Given the description of an element on the screen output the (x, y) to click on. 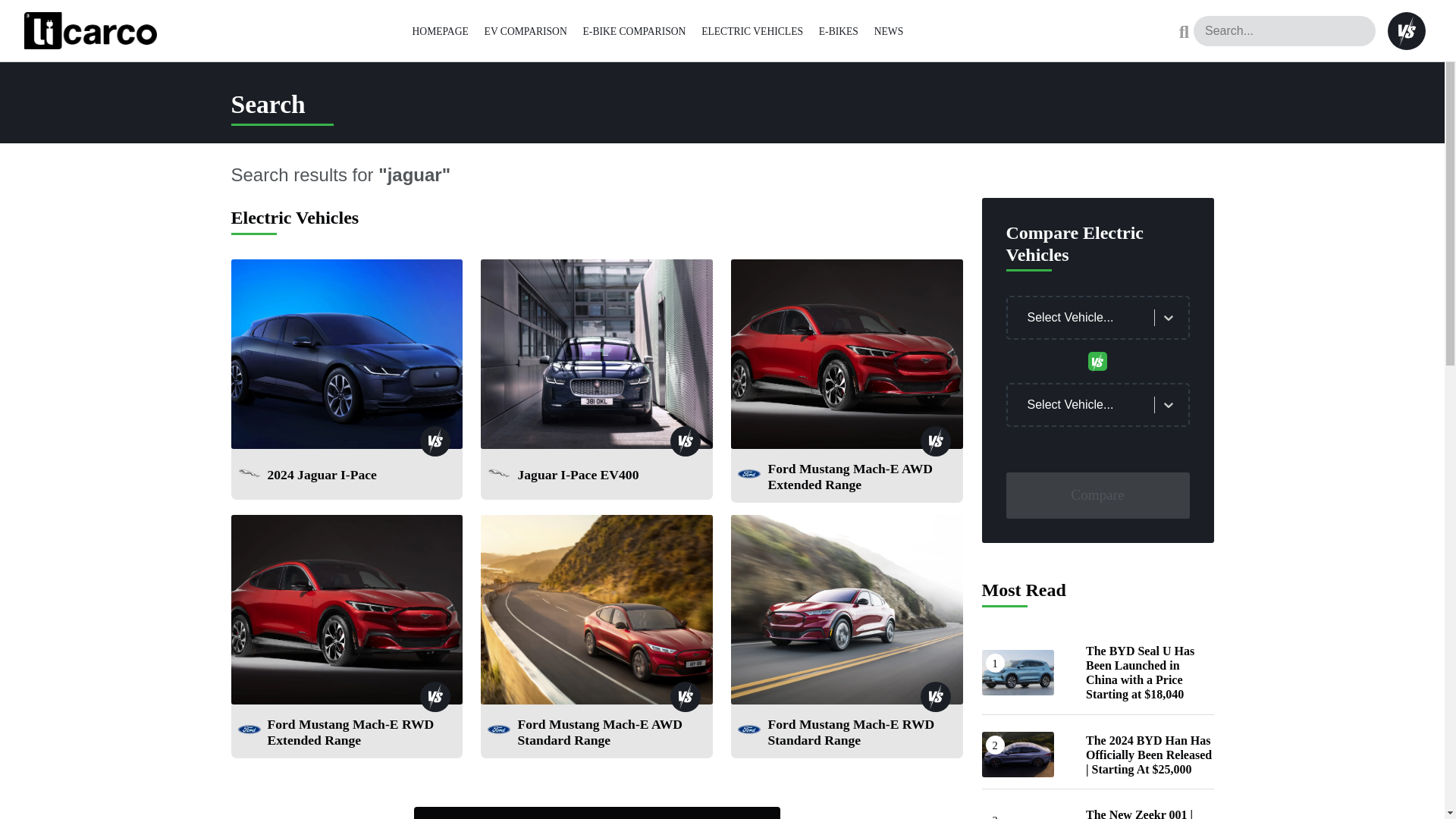
HOMEPAGE (440, 30)
EV COMPARISON (525, 30)
Ford Mustang Mach-E RWD Extended Range (361, 735)
2023-jaguar-i-pace-specs (346, 353)
jaguar-i-pace-hero-shot-12 (596, 353)
Ford Mustang Mach-E AWD Standard Range (611, 735)
ford-mustang-mach-e-front-studio (846, 353)
ELECTRIC VEHICLES (752, 30)
Jaguar I-Pace EV400 (577, 477)
Ford Mustang Mach-E AWD Extended Range (861, 479)
2024 Jaguar I-Pace (320, 477)
More (596, 812)
ford-mustang-mach-e-front-studio (346, 609)
E-BIKE COMPARISON (634, 30)
NEWS (889, 30)
